Given the description of an element on the screen output the (x, y) to click on. 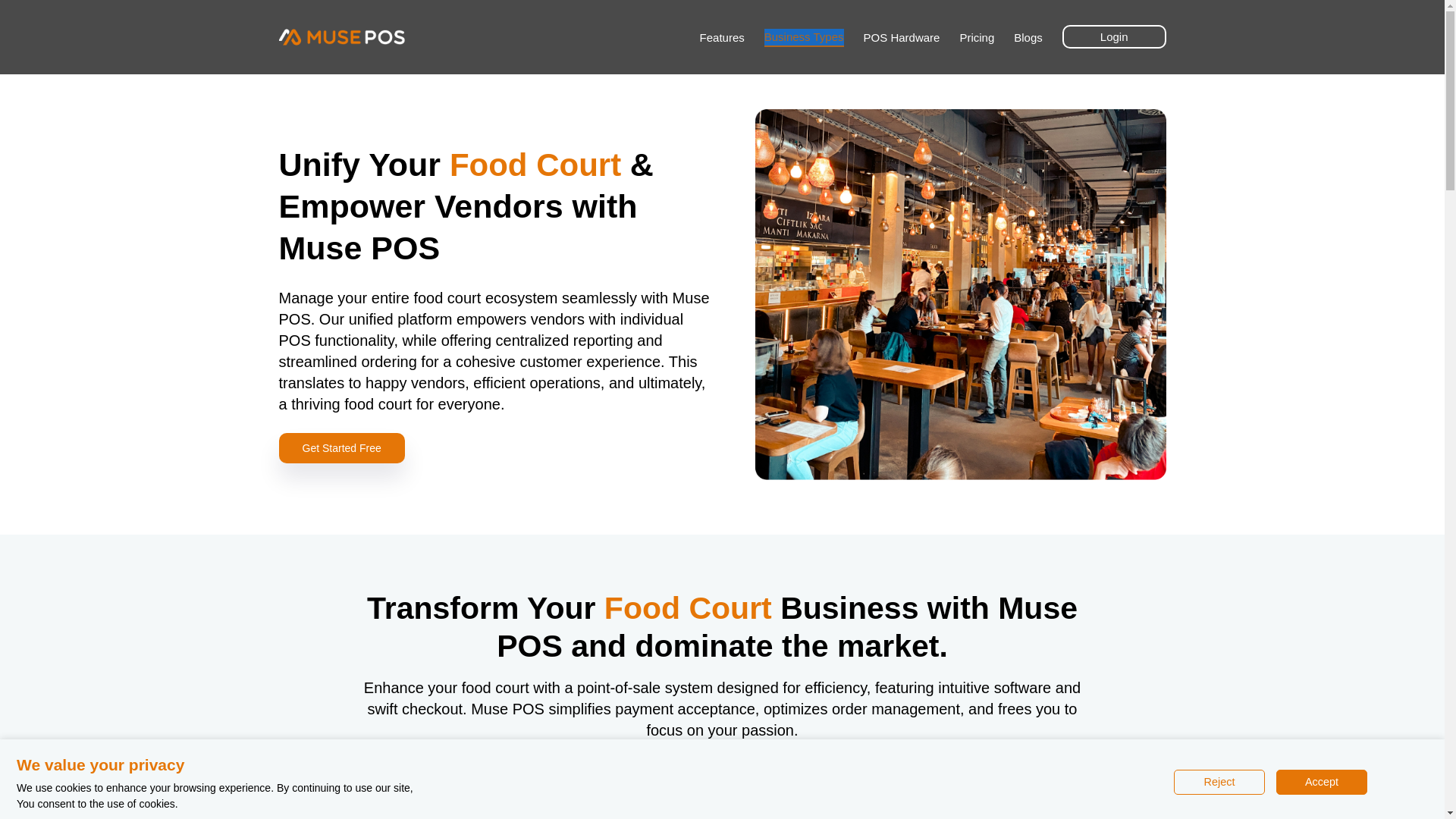
Get Started Free (341, 448)
Features (722, 36)
Accept (1321, 781)
Blogs (1027, 36)
Login (1114, 36)
Business Types (804, 37)
Pricing (976, 36)
POS Hardware (901, 36)
Reject (1219, 781)
